Given the description of an element on the screen output the (x, y) to click on. 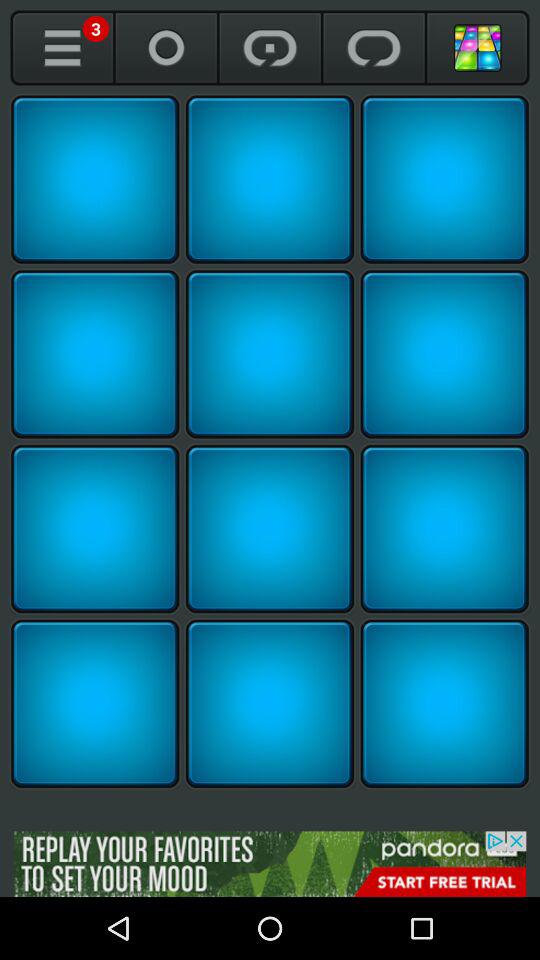
row 1 center loop (269, 179)
